Given the description of an element on the screen output the (x, y) to click on. 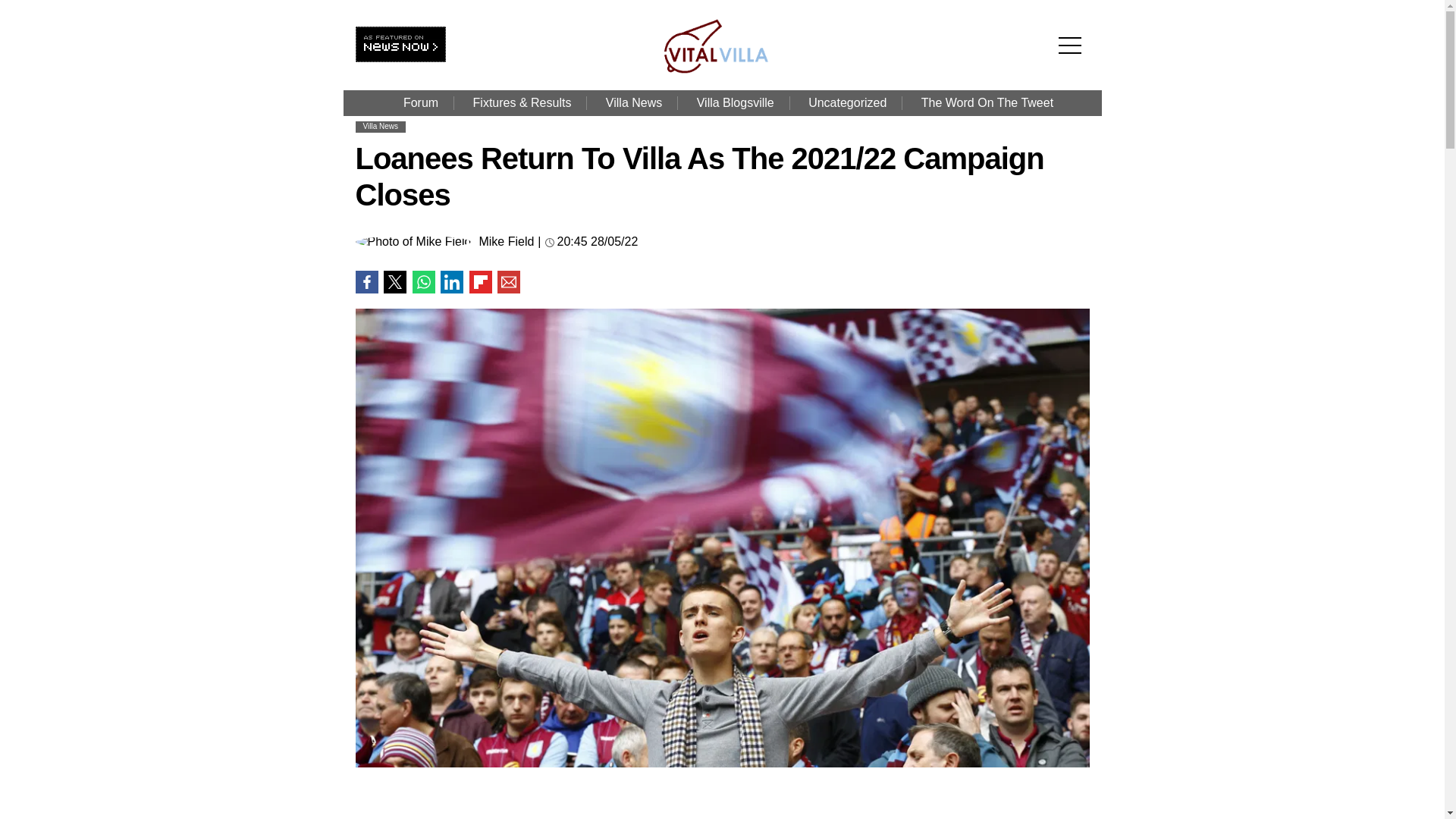
Menu (1074, 21)
share on Flipboard (480, 282)
Mike Field (506, 241)
Uncategorized (847, 102)
share on Twitter (395, 282)
share on Email (508, 282)
Villa Blogsville (735, 102)
Villa News (634, 102)
share on WhatsApp (423, 282)
The Word On The Tweet (986, 102)
share on LinkedIn (452, 282)
Forum (420, 102)
Villa News (379, 126)
share on Facebook (366, 282)
Back to the homepage (725, 69)
